Given the description of an element on the screen output the (x, y) to click on. 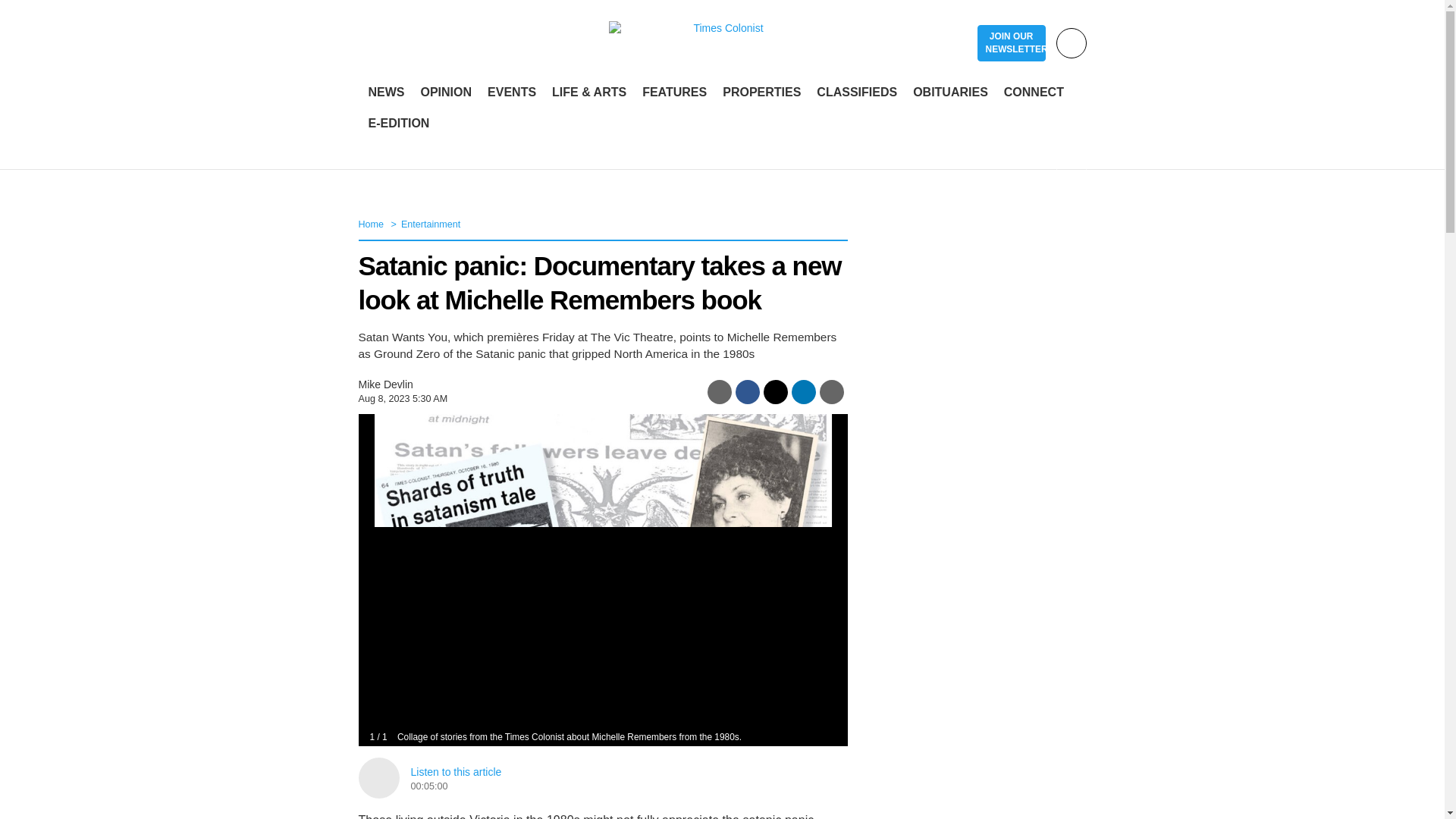
JOIN OUR NEWSLETTER (1010, 43)
OPINION (445, 92)
NEWS (386, 92)
EVENTS (511, 92)
